Given the description of an element on the screen output the (x, y) to click on. 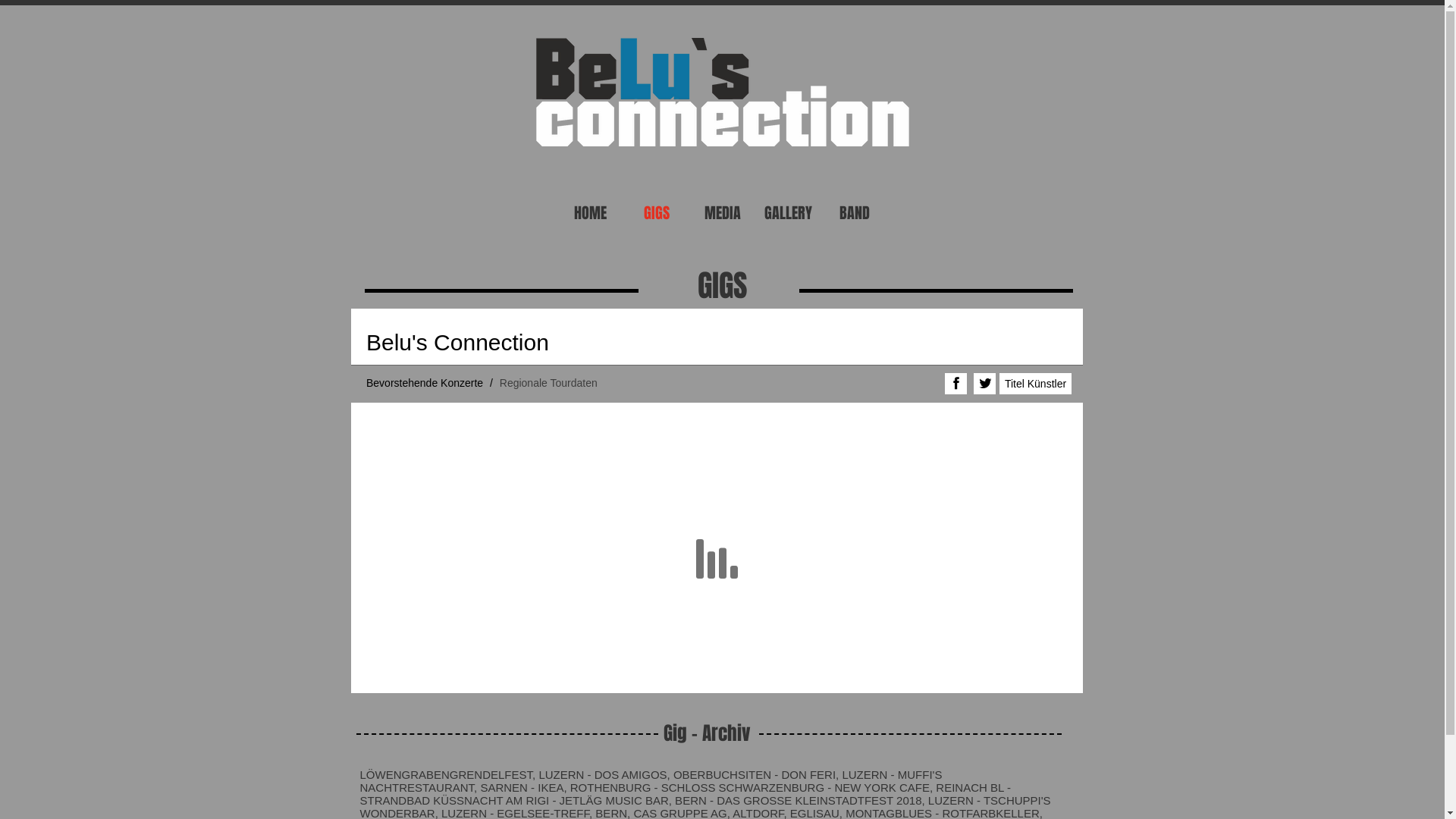
GALLERY Element type: text (788, 212)
HOME Element type: text (590, 212)
GIGS Element type: text (656, 212)
MEDIA Element type: text (722, 212)
BAND Element type: text (854, 212)
Bandsintown Element type: hover (716, 500)
